Given the description of an element on the screen output the (x, y) to click on. 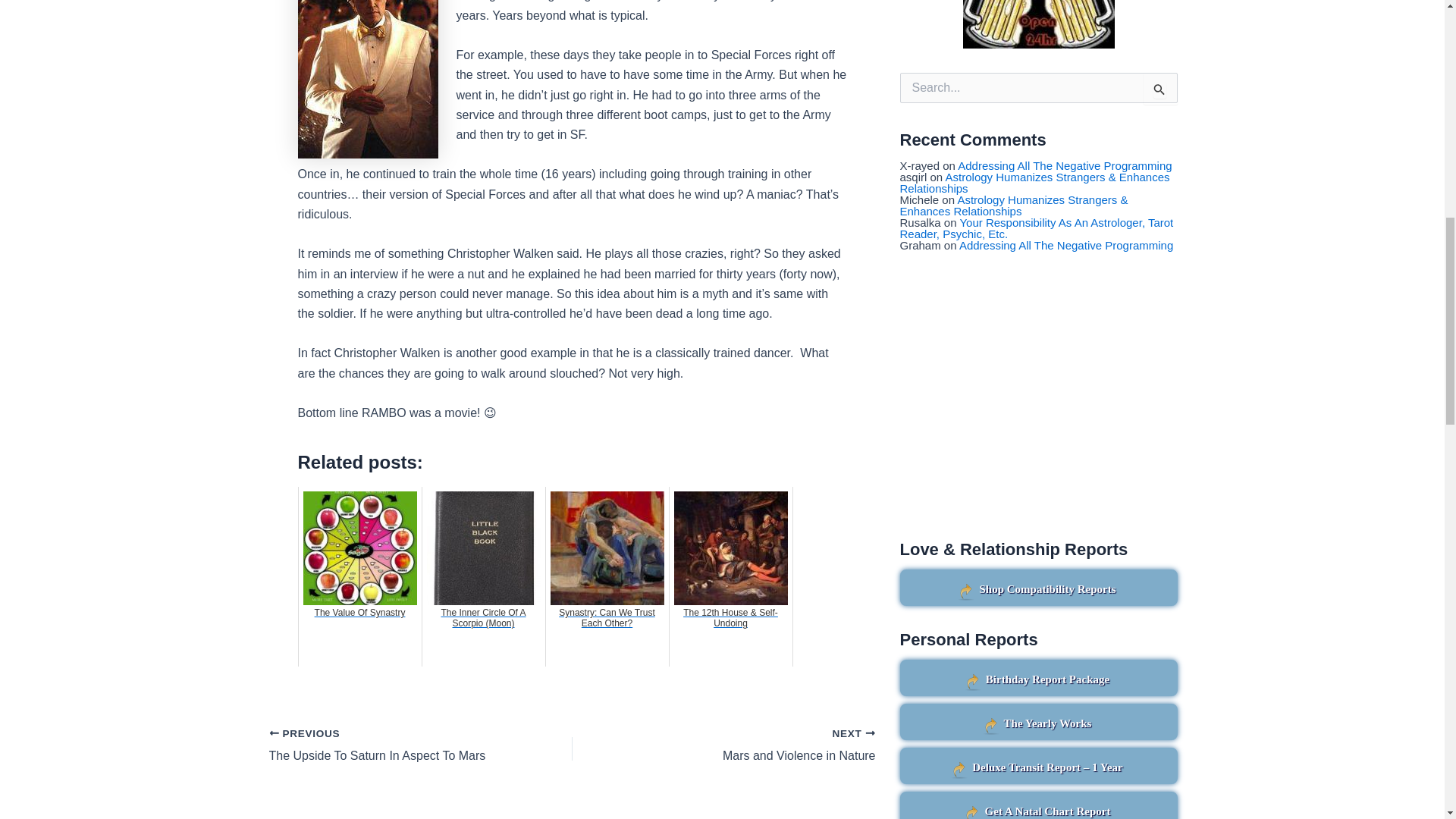
Mars and Violence in  Nature (753, 745)
The Upside To Saturn In Aspect To Mars (389, 745)
Search (1159, 88)
Search (1159, 88)
